Given the description of an element on the screen output the (x, y) to click on. 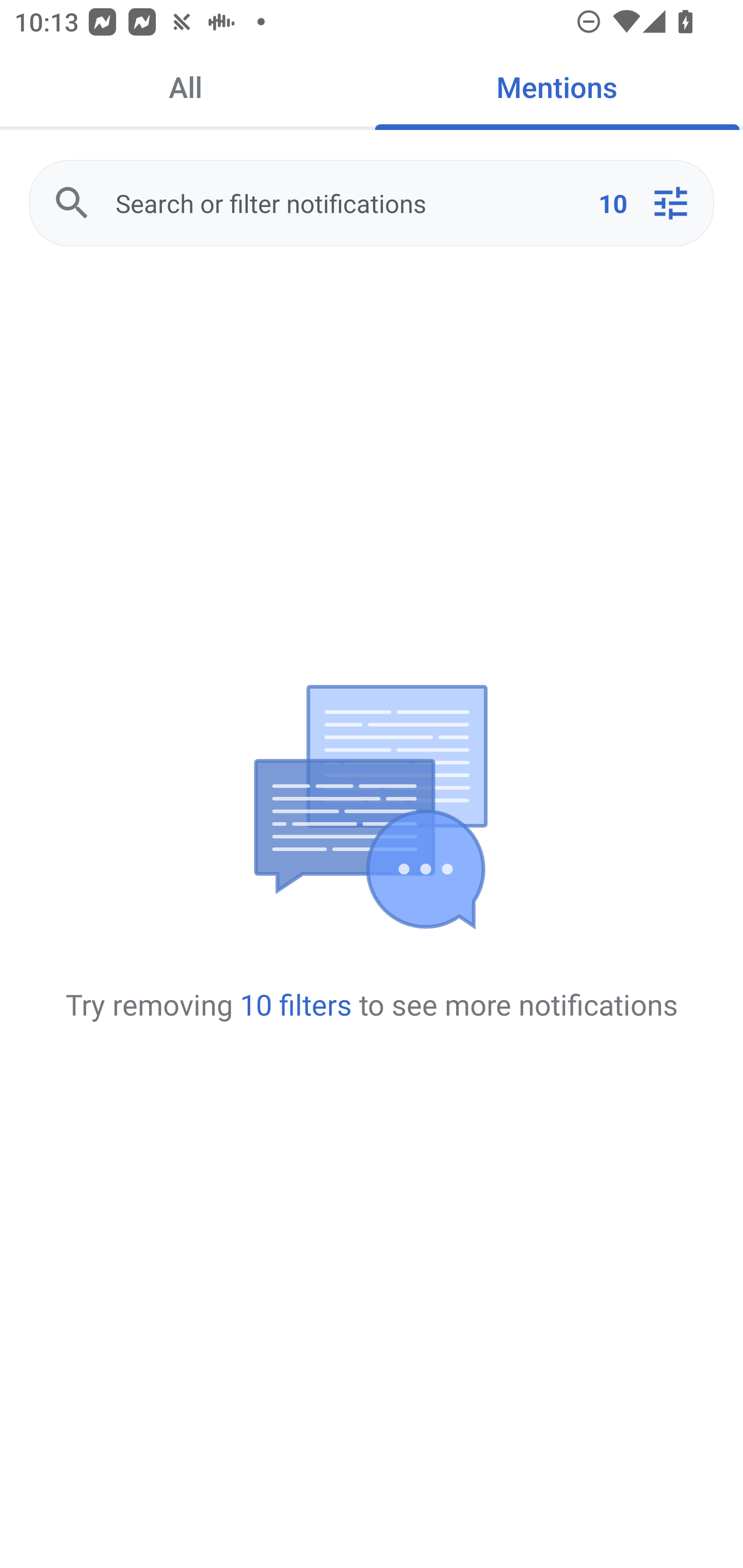
All (185, 86)
Notification filter (670, 202)
